Given the description of an element on the screen output the (x, y) to click on. 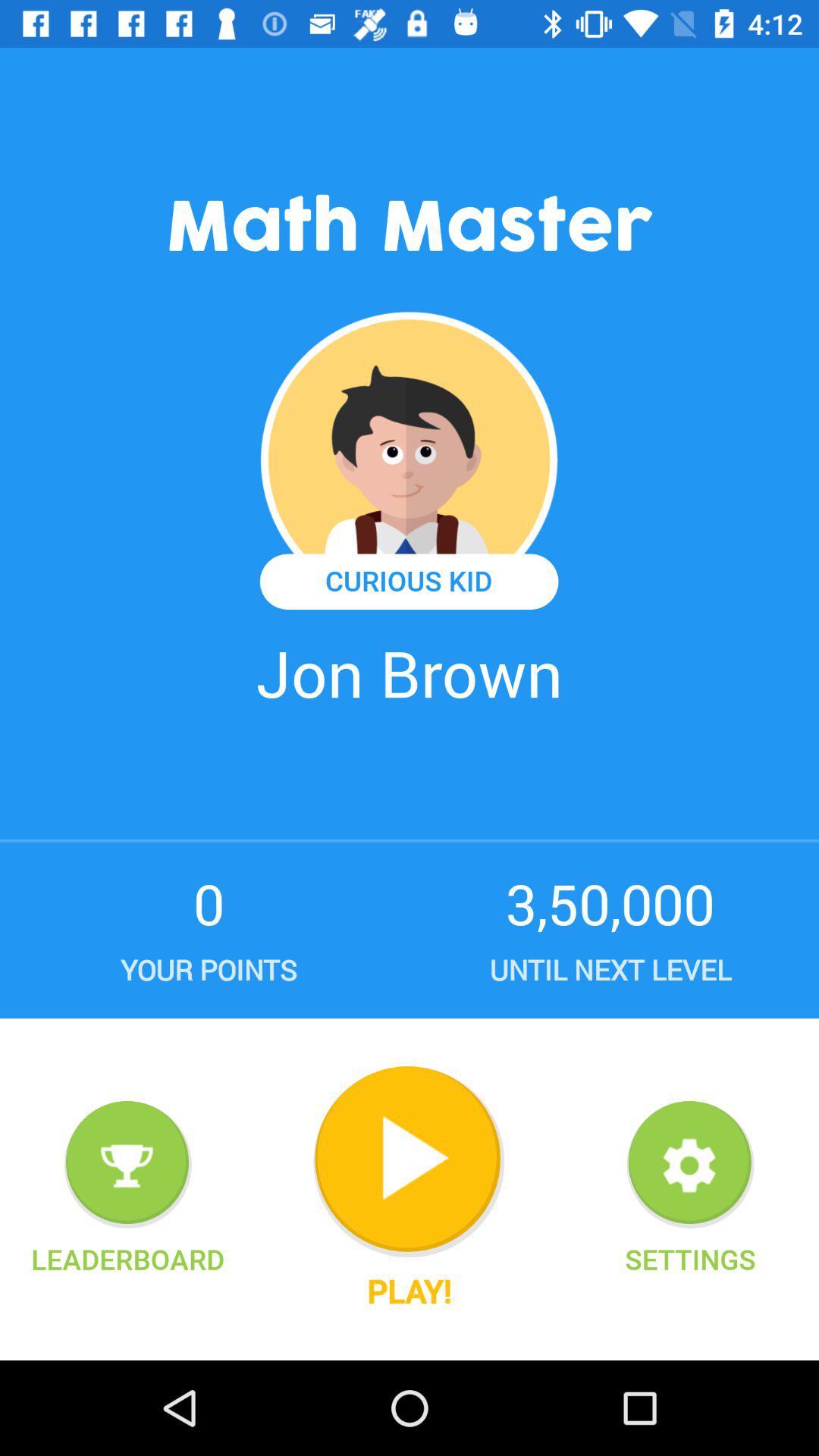
show your points (127, 1164)
